Given the description of an element on the screen output the (x, y) to click on. 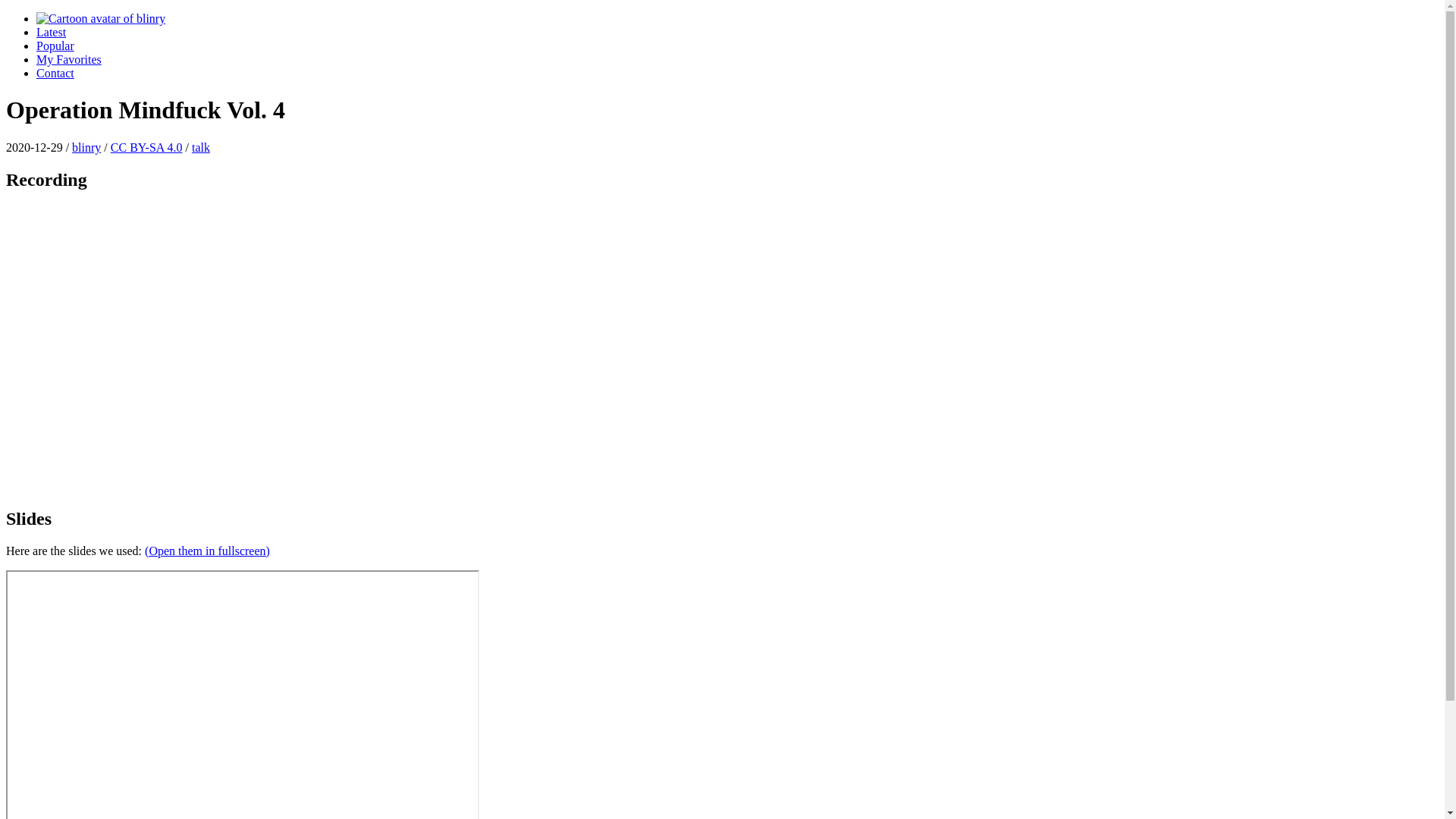
Contact Element type: text (55, 72)
blinry Element type: text (86, 147)
Popular Element type: text (55, 45)
My Favorites Element type: text (68, 59)
CC BY-SA 4.0 Element type: text (146, 147)
Latest Element type: text (50, 31)
(Open them in fullscreen) Element type: text (206, 550)
talk Element type: text (200, 147)
